Given the description of an element on the screen output the (x, y) to click on. 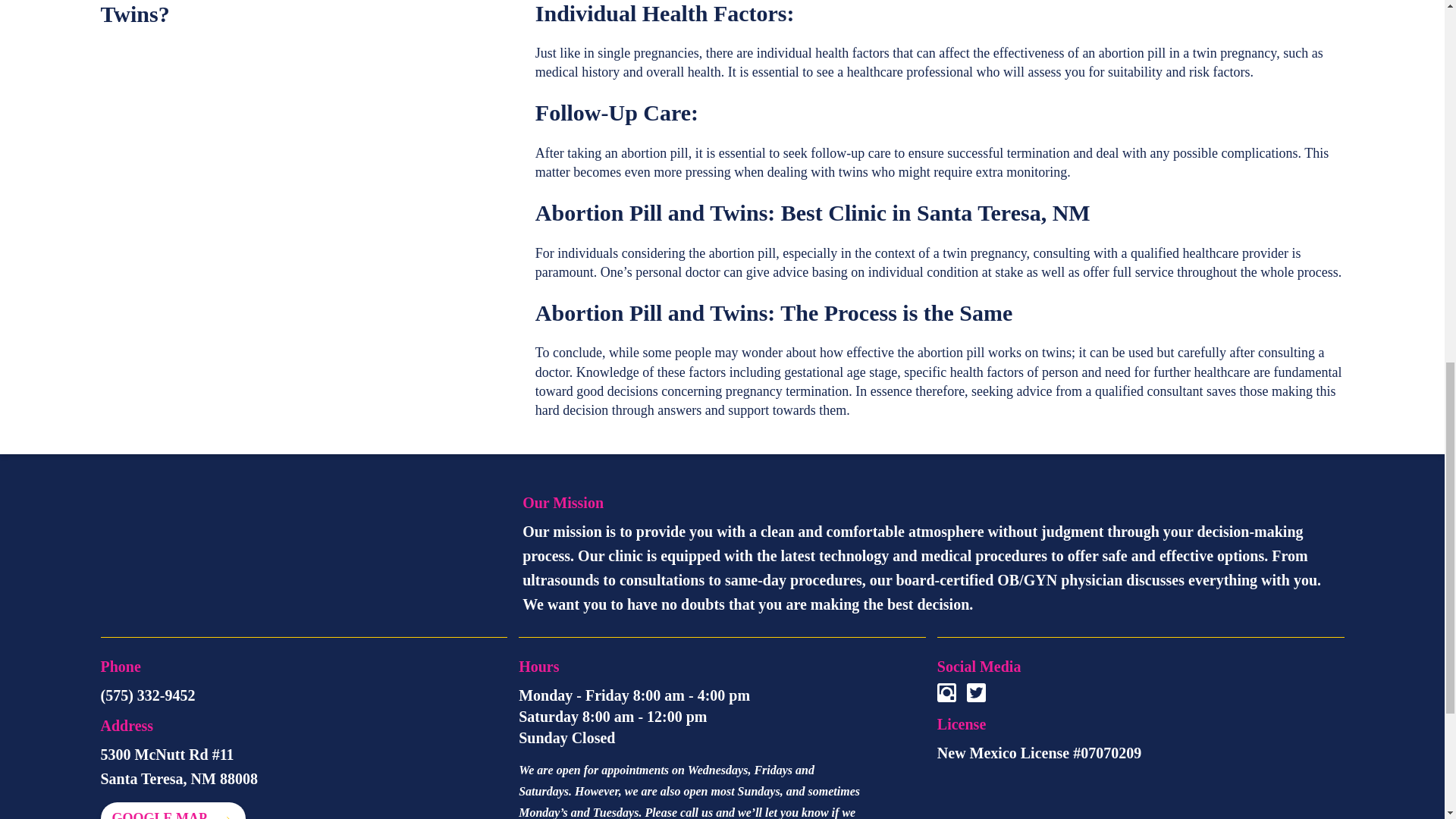
GOOGLE MAP (172, 810)
